Given the description of an element on the screen output the (x, y) to click on. 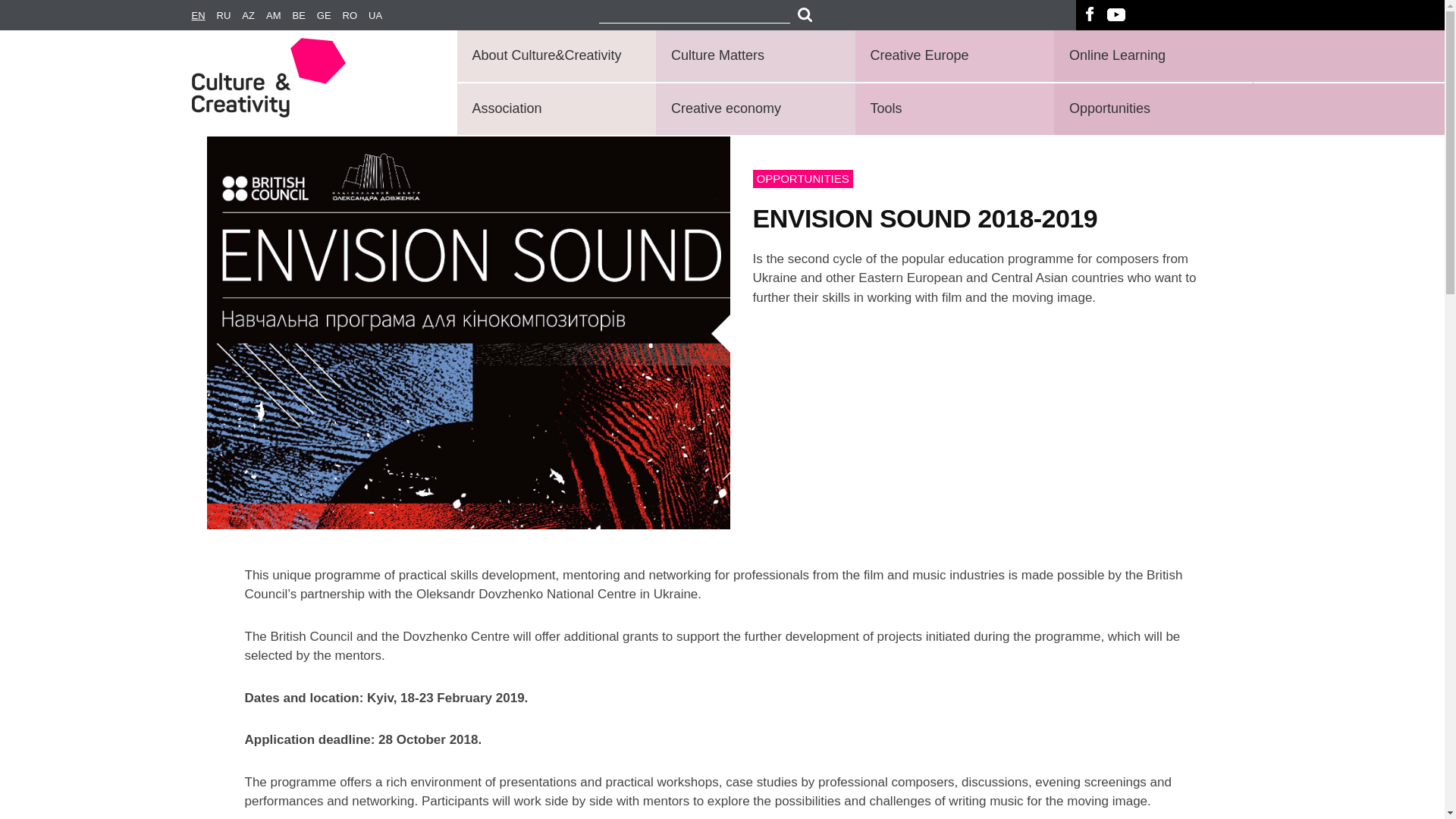
OPPORTUNITIES (802, 178)
AZ (253, 15)
BE (303, 15)
Culture Matters (752, 55)
AM (279, 15)
RO (355, 15)
Creative economy (752, 109)
Online Learning (1150, 55)
GE (329, 15)
RU (229, 15)
Tools (952, 109)
Opportunities (1150, 109)
EN (202, 15)
Creative Europe (952, 55)
UA (380, 15)
